Given the description of an element on the screen output the (x, y) to click on. 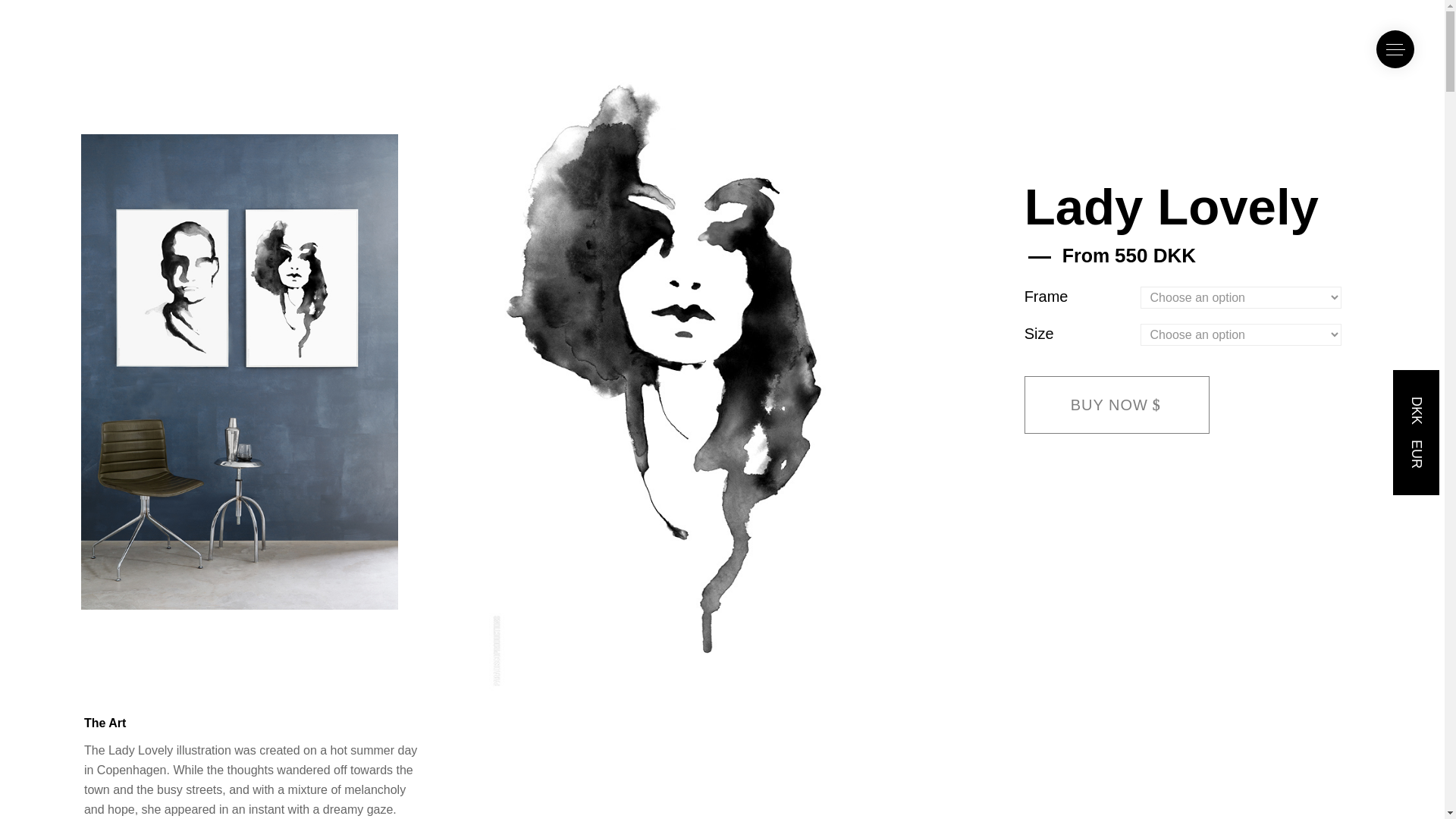
DKK (1422, 404)
BUY NOW (1117, 404)
